Given the description of an element on the screen output the (x, y) to click on. 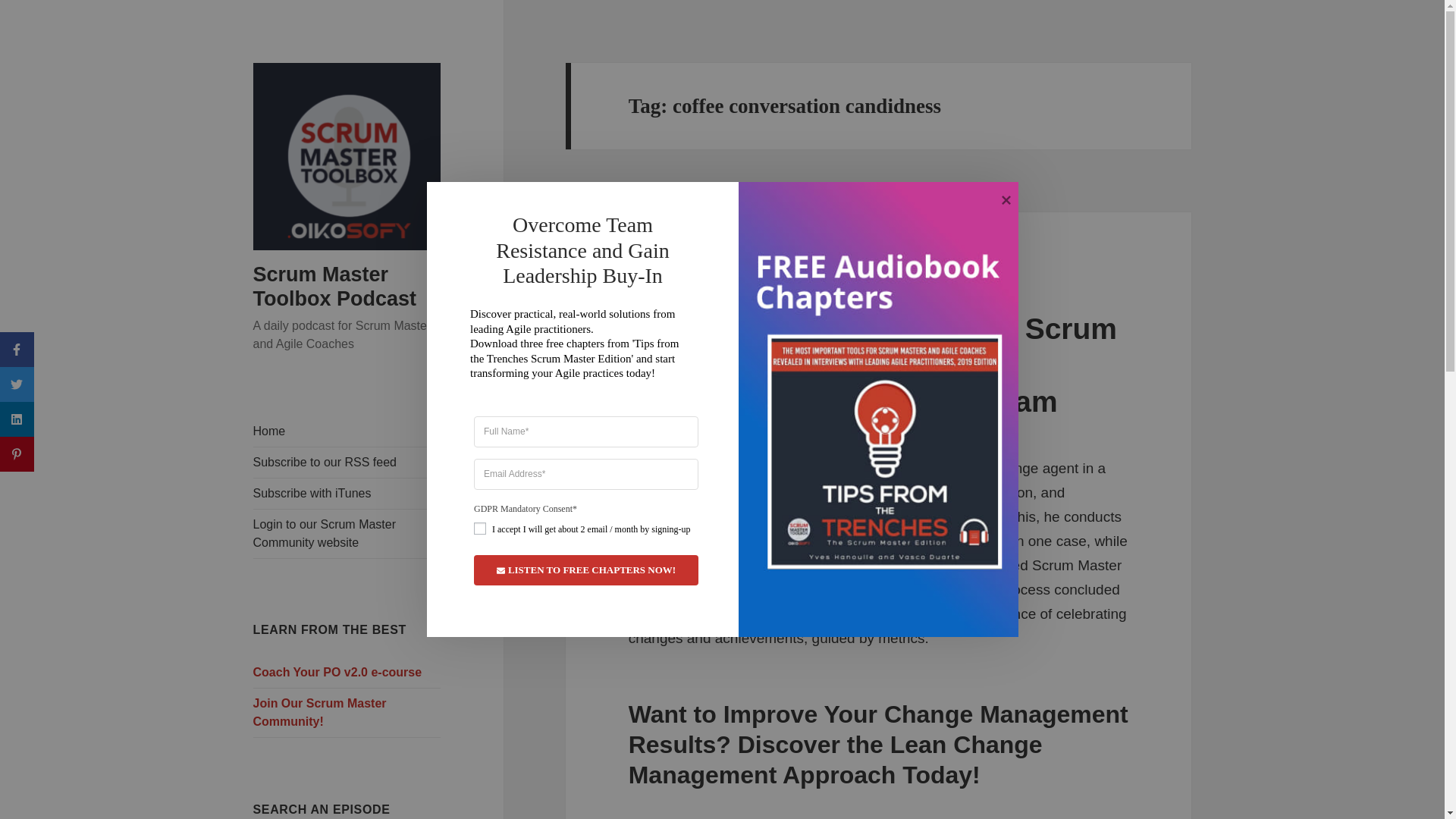
Coach Your PO v2.0 e-course (347, 672)
Scrum Master Toolbox Podcast (334, 286)
Login to our Scrum Master Community website (347, 533)
Home (347, 431)
Subscribe to our RSS feed (347, 462)
Subscribe with iTunes (347, 493)
Join Our Scrum Master Community! (347, 712)
